Given the description of an element on the screen output the (x, y) to click on. 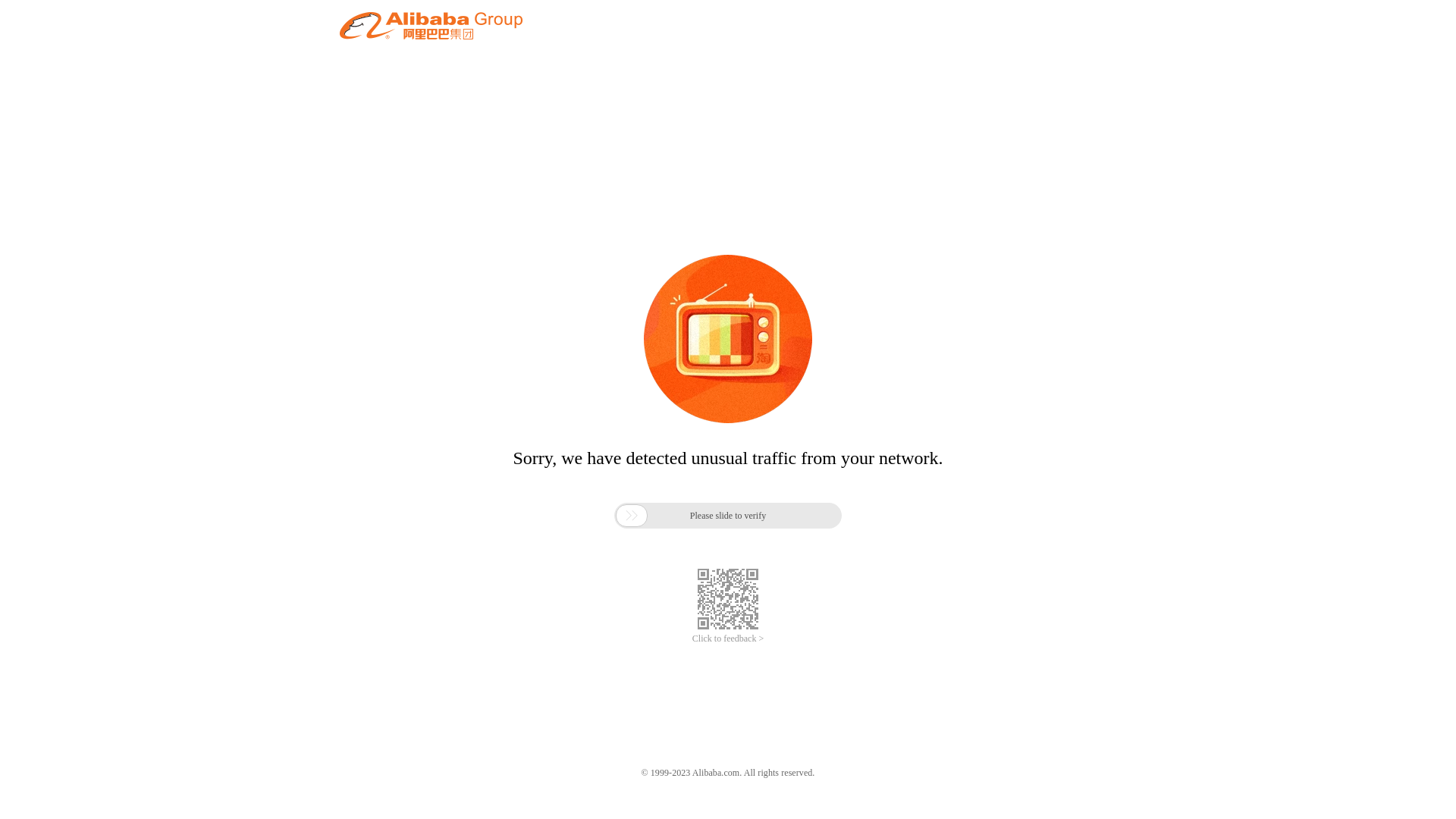
Click to feedback > Element type: text (727, 638)
